Given the description of an element on the screen output the (x, y) to click on. 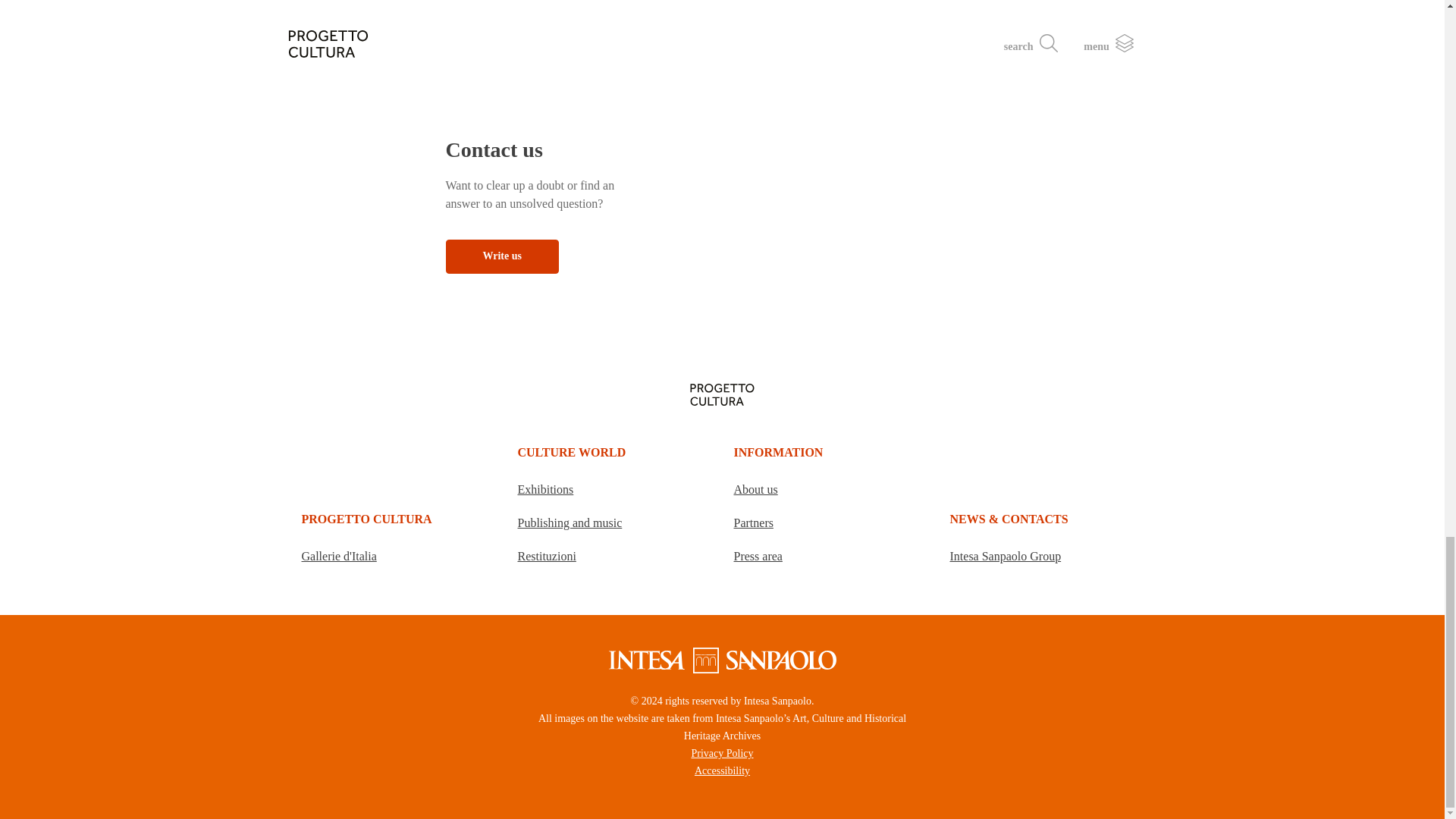
Restituzioni (553, 555)
Exhibitions (552, 489)
Gallerie d'Italia (347, 555)
Write us (502, 256)
Accessibility declaration (721, 770)
Publishing and music (576, 522)
